Given the description of an element on the screen output the (x, y) to click on. 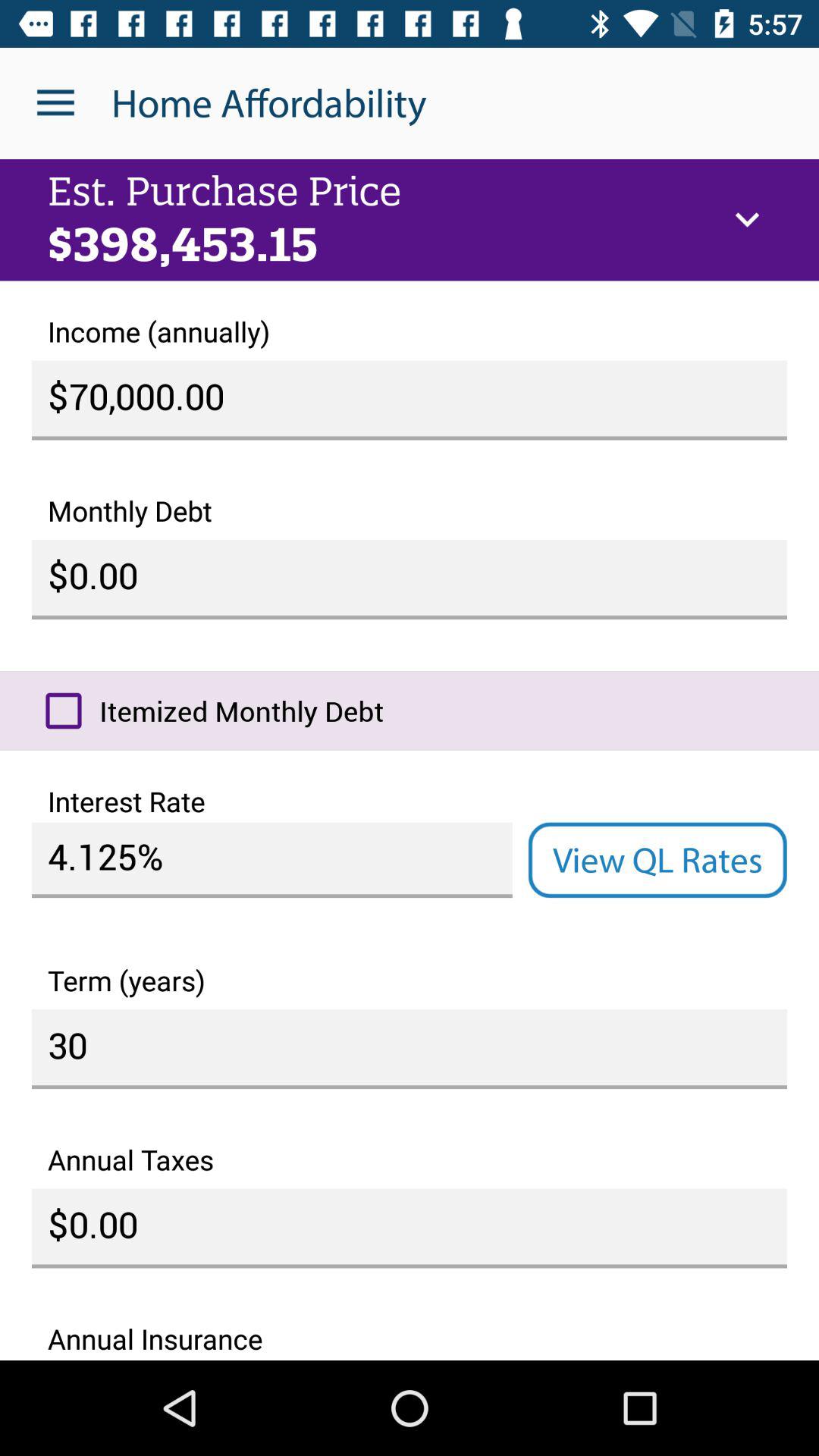
turn on the 30 icon (409, 1049)
